Given the description of an element on the screen output the (x, y) to click on. 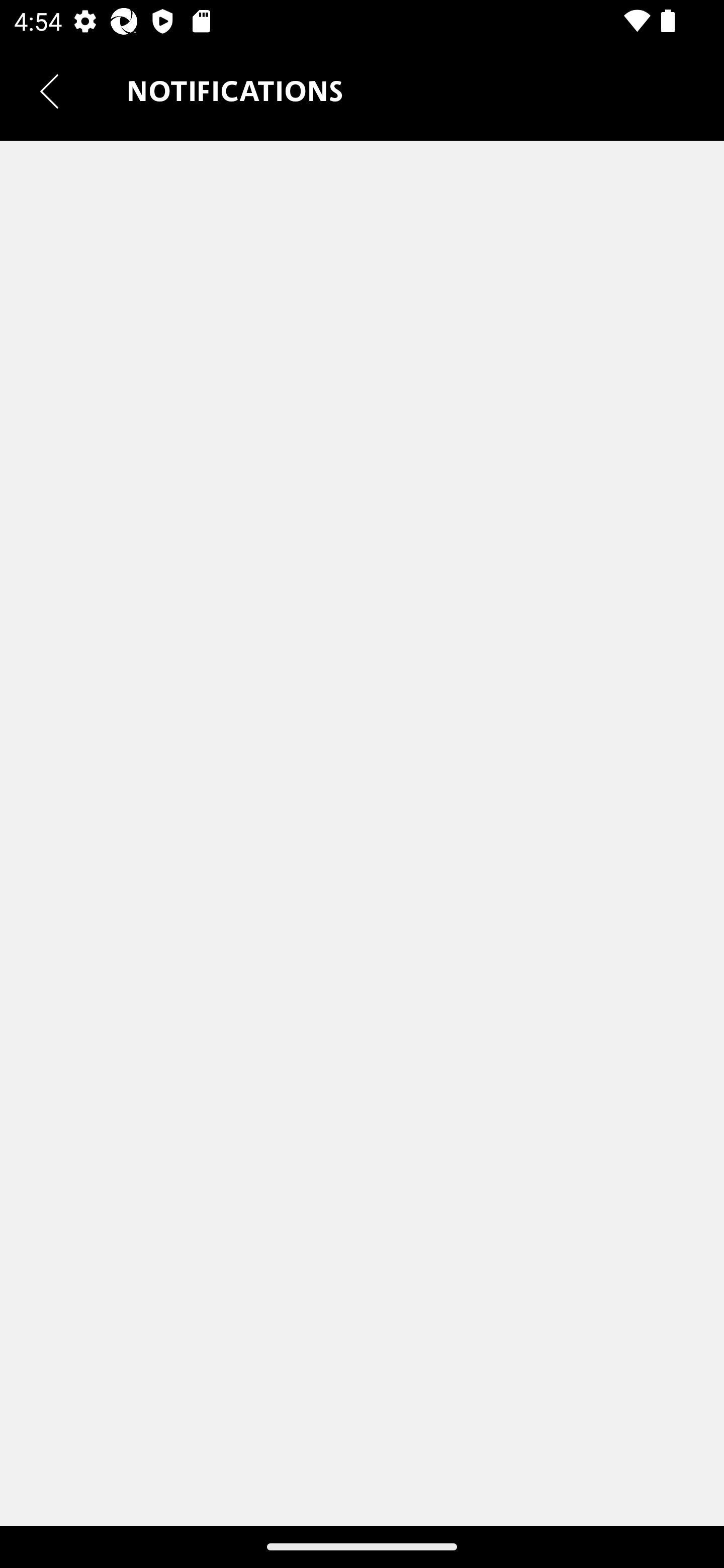
Navigate up (49, 91)
